Given the description of an element on the screen output the (x, y) to click on. 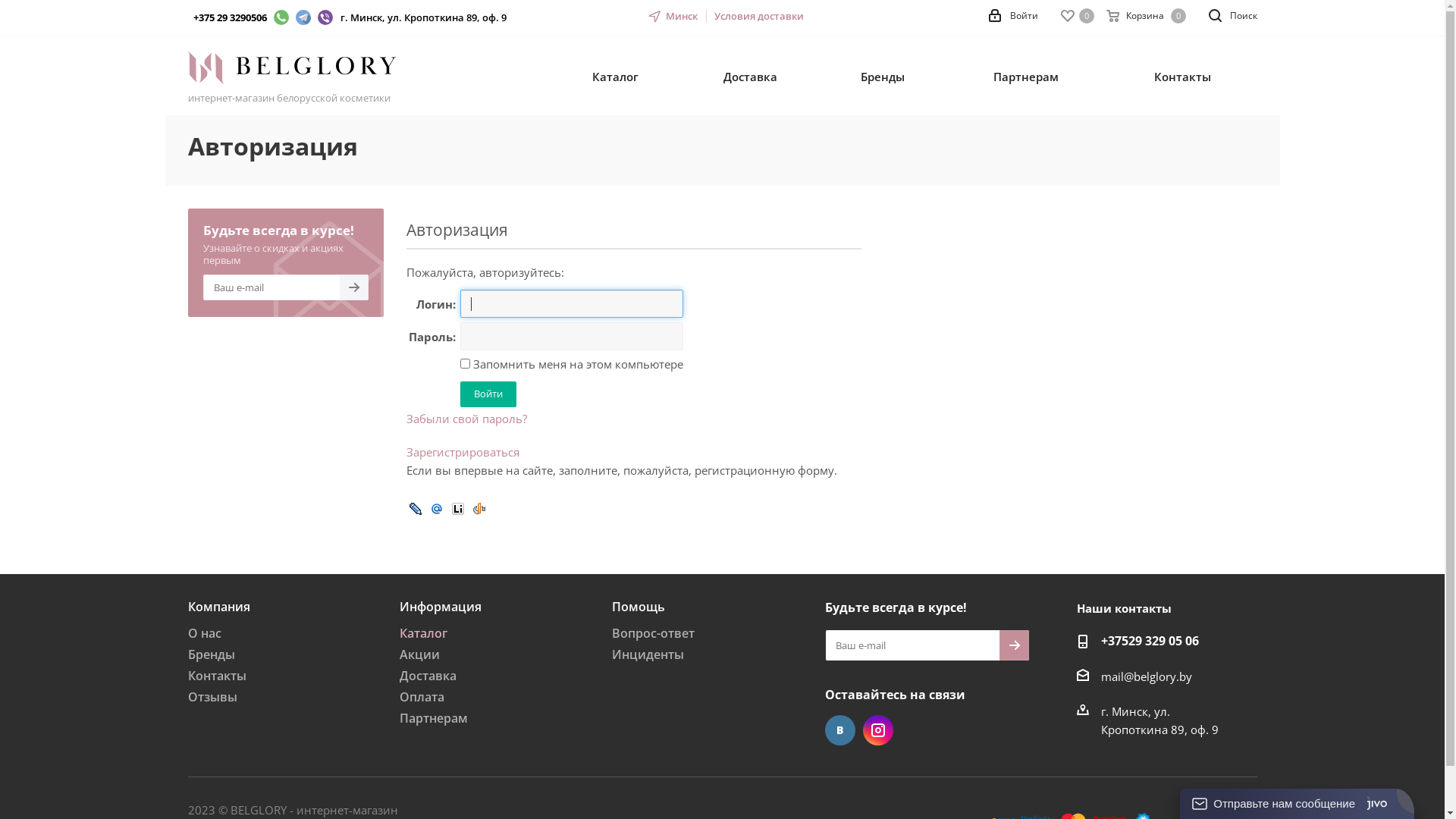
+375 29 3290506 Element type: text (229, 17)
mail@belglory.by Element type: text (1146, 676)
+37529 329 05 06 Element type: text (1149, 641)
Livejournal Element type: hover (414, 507)
Instagram Element type: text (877, 730)
Liveinternet Element type: hover (456, 507)
Mail.Ru Element type: hover (435, 507)
OpenID Element type: hover (478, 507)
belglory.by Element type: hover (291, 67)
